Given the description of an element on the screen output the (x, y) to click on. 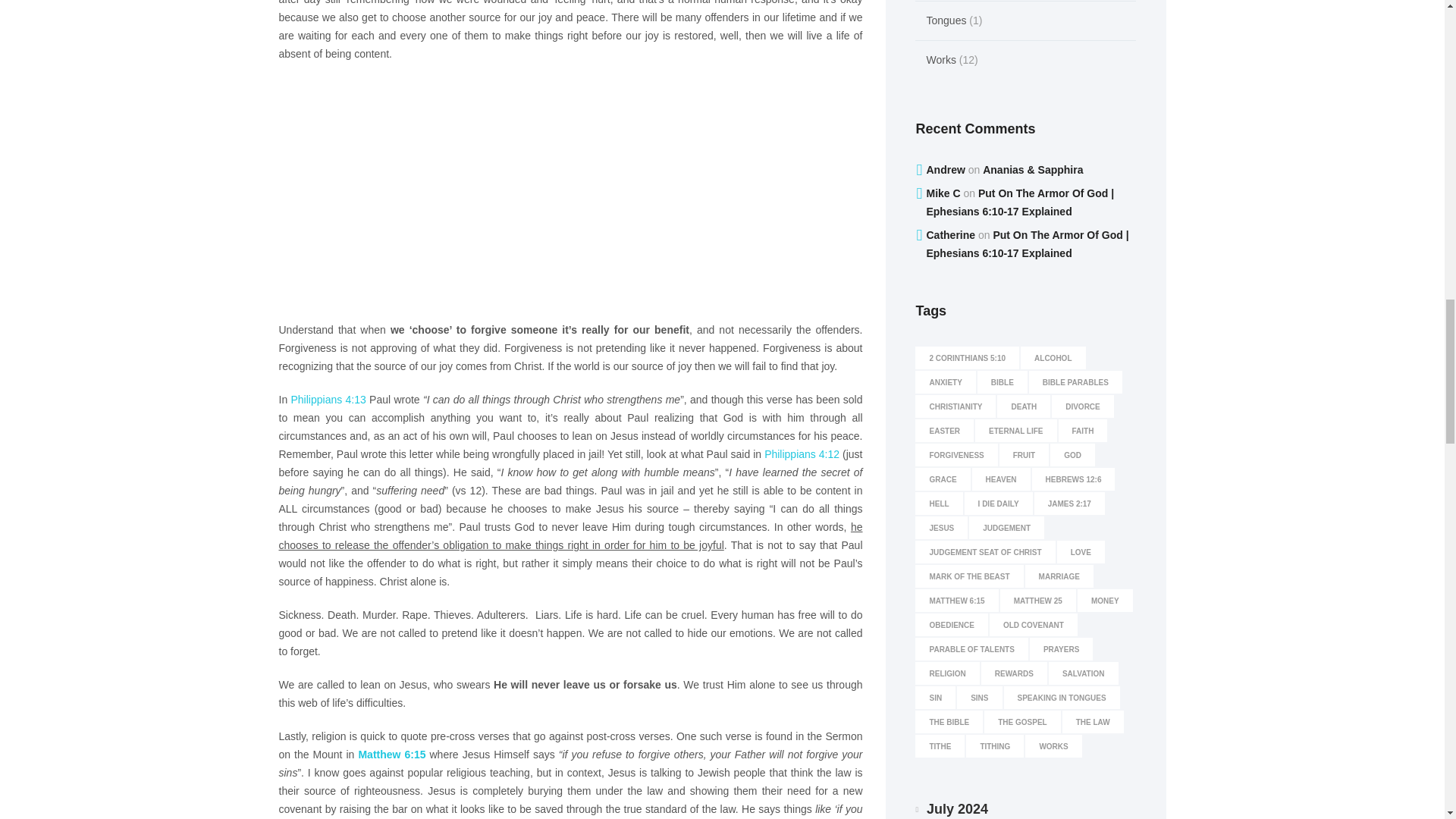
View posts for February 2024 (929, 809)
